Given the description of an element on the screen output the (x, y) to click on. 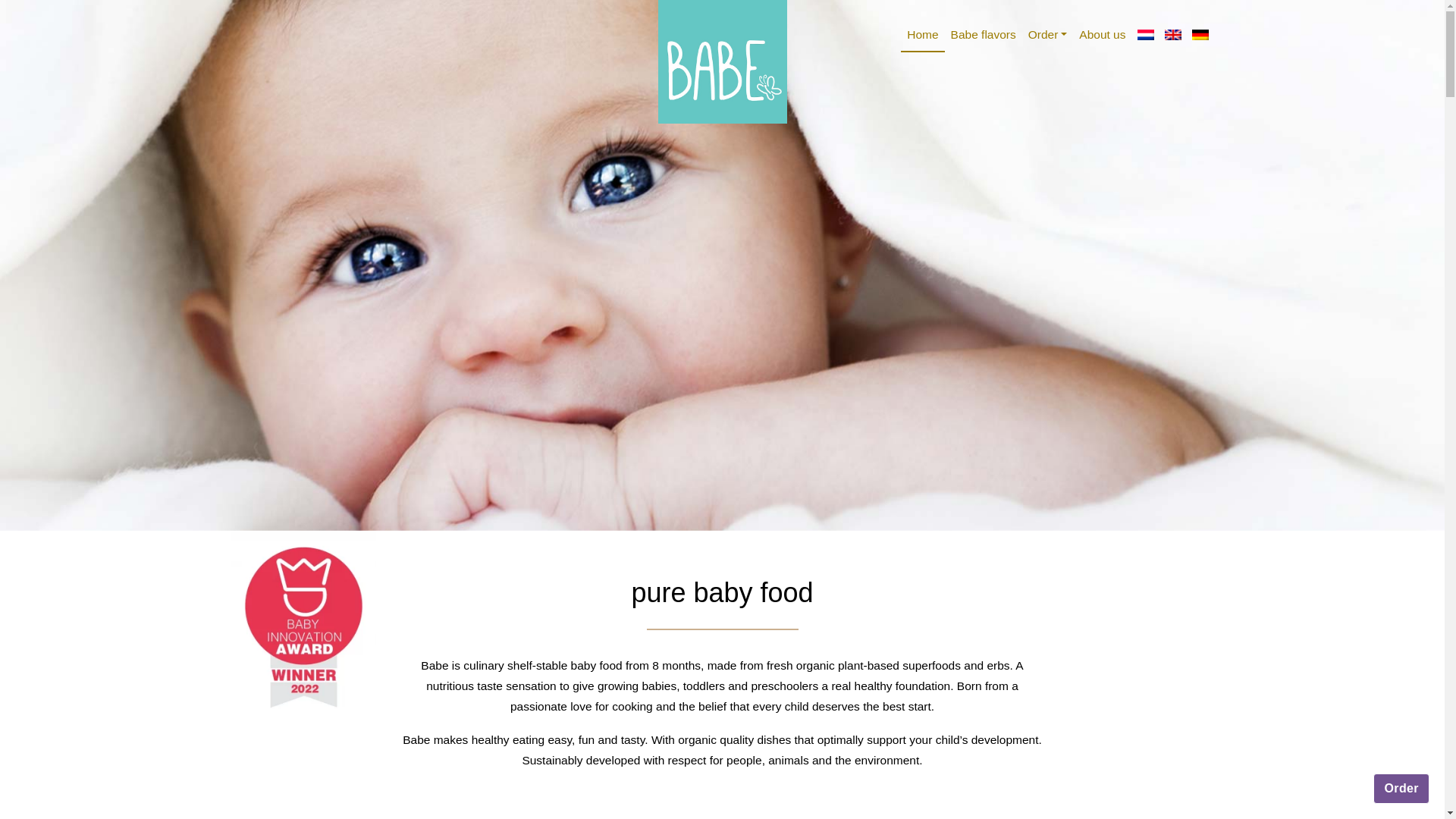
Babe flavors (983, 34)
Home (922, 35)
About us (1102, 34)
Order (1048, 34)
